Given the description of an element on the screen output the (x, y) to click on. 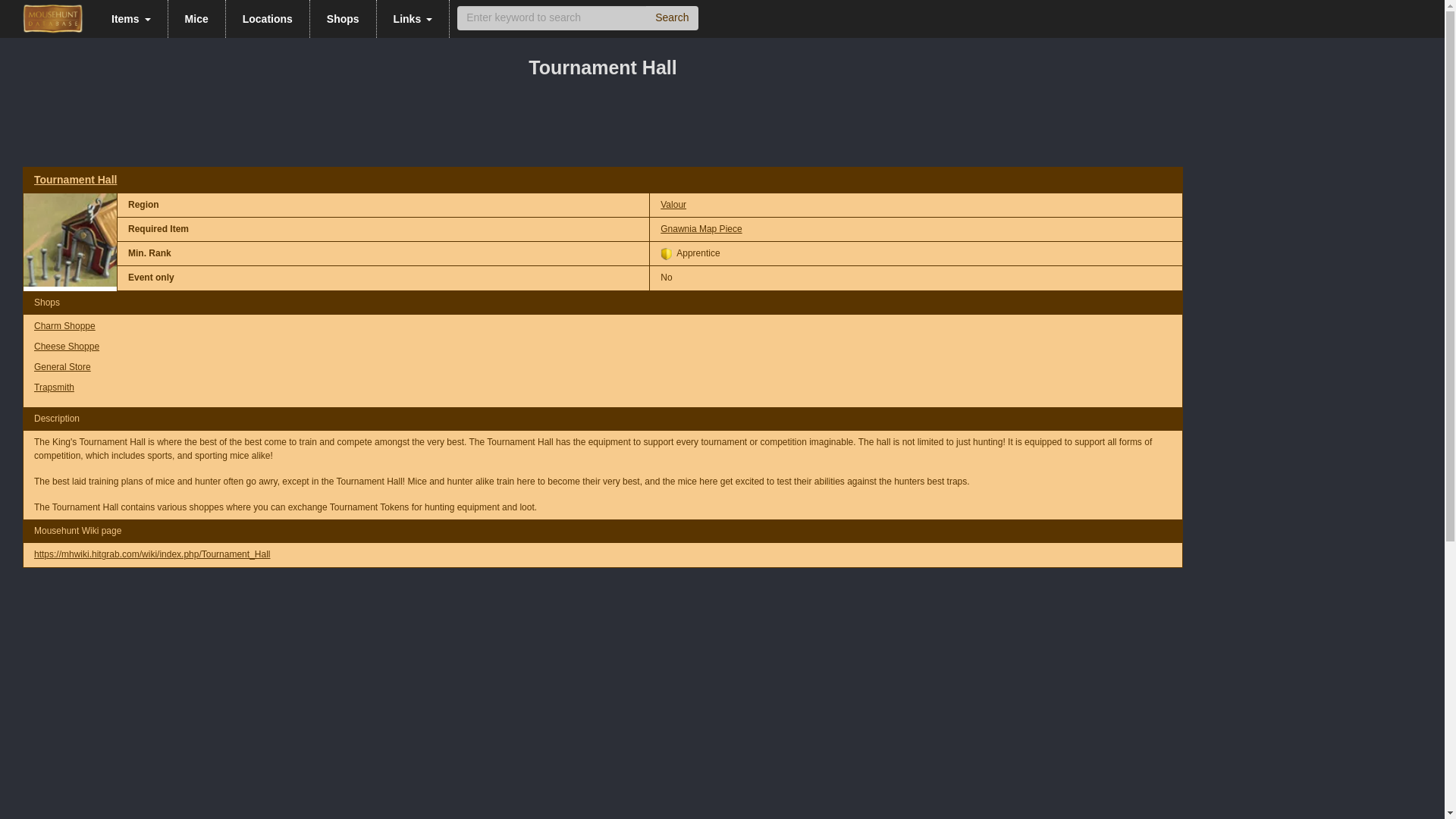
Advertisement (603, 626)
Valour (673, 204)
Mice (196, 18)
Advertisement (478, 772)
Cheese Shoppe (66, 346)
Search (671, 17)
Locations (267, 18)
Search (671, 17)
Advertisement (603, 128)
Tournament Hall (74, 179)
General Store (61, 366)
Items (131, 18)
Tournament Hall (69, 239)
Links (413, 18)
Gnawnia Map Piece (701, 228)
